Given the description of an element on the screen output the (x, y) to click on. 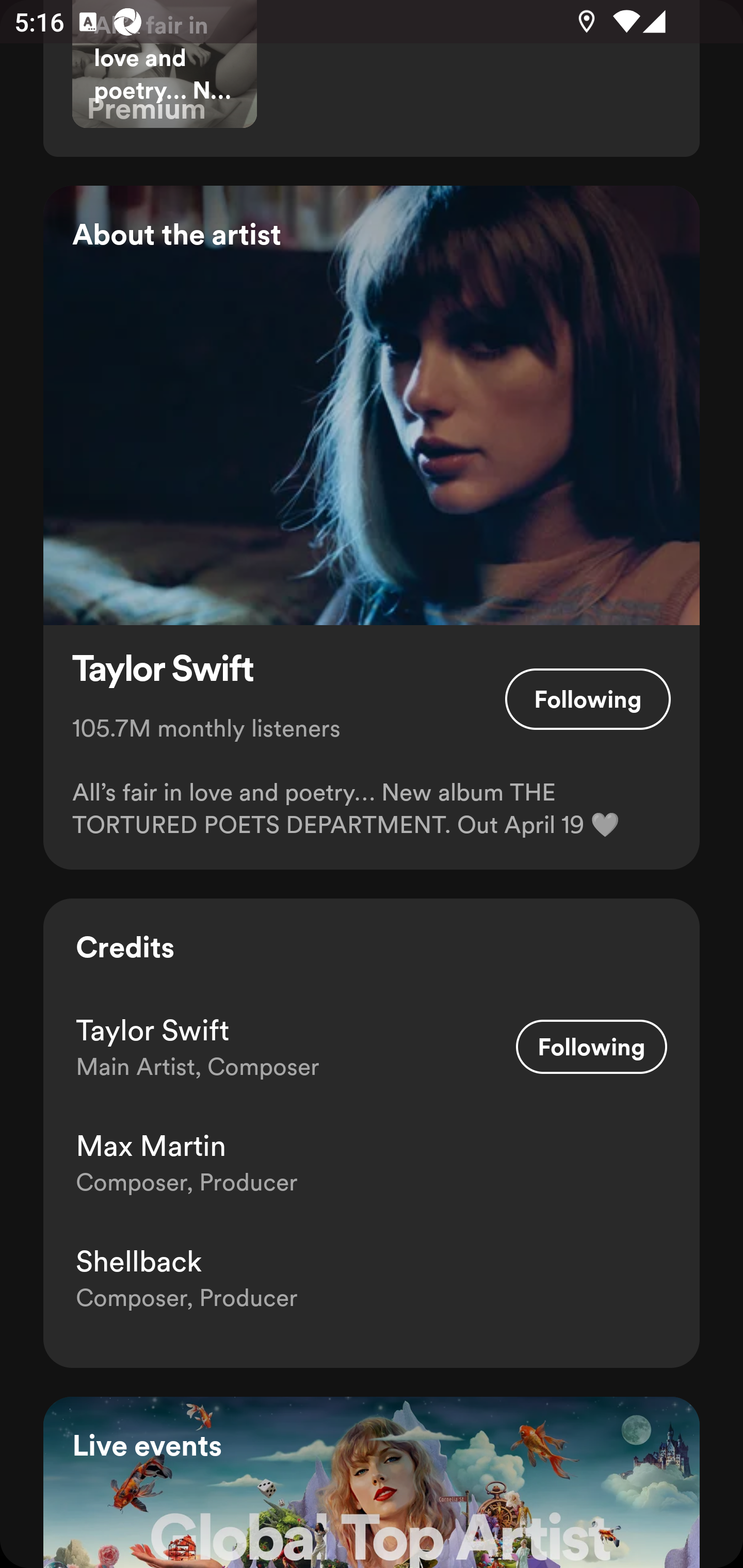
Following Unfollow this Artist (587, 698)
Following Unfollow (591, 1046)
Live events (371, 1482)
